Given the description of an element on the screen output the (x, y) to click on. 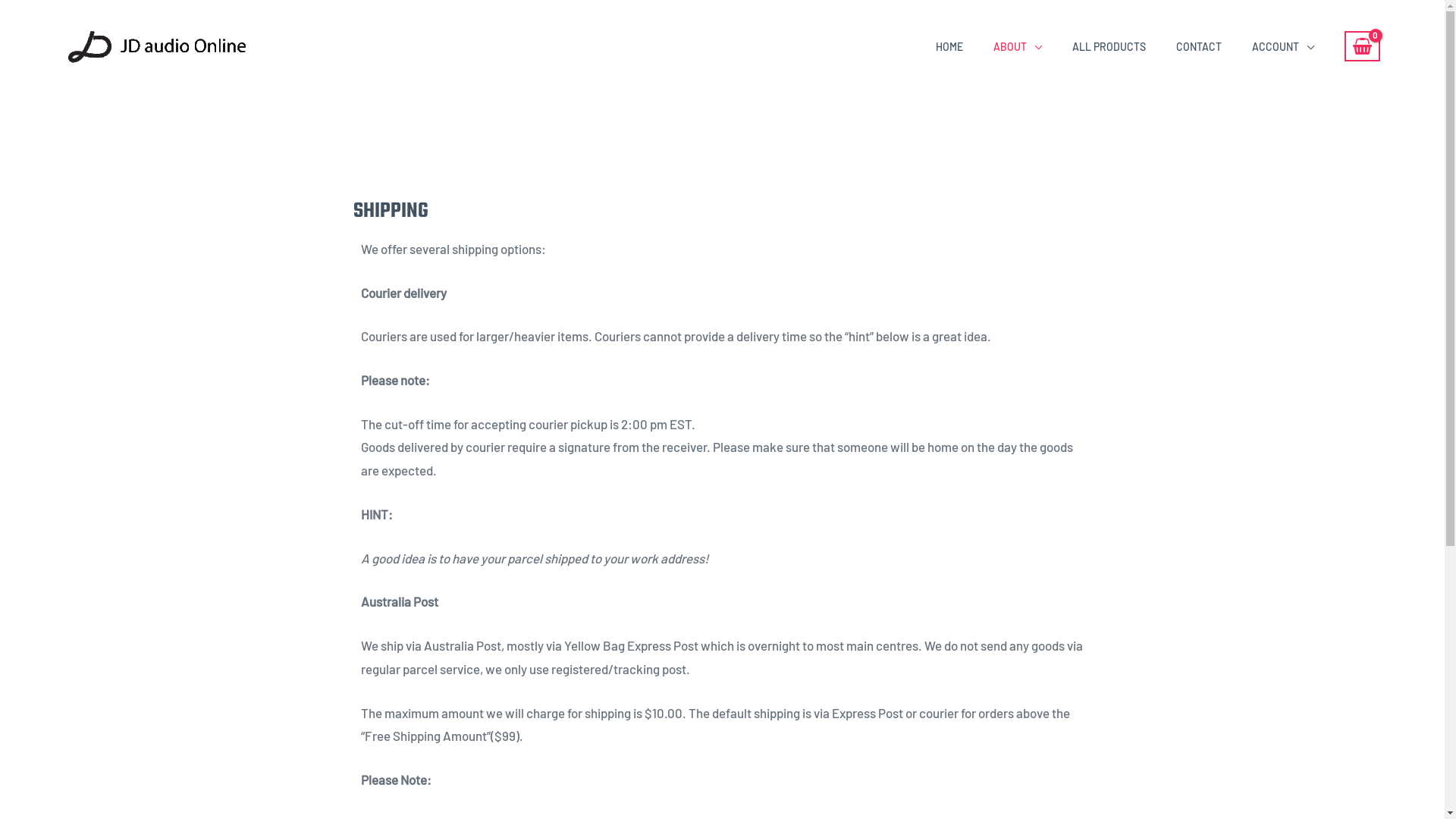
ACCOUNT Element type: text (1282, 46)
ALL PRODUCTS Element type: text (1109, 46)
ABOUT Element type: text (1017, 46)
HOME Element type: text (949, 46)
CONTACT Element type: text (1198, 46)
